Given the description of an element on the screen output the (x, y) to click on. 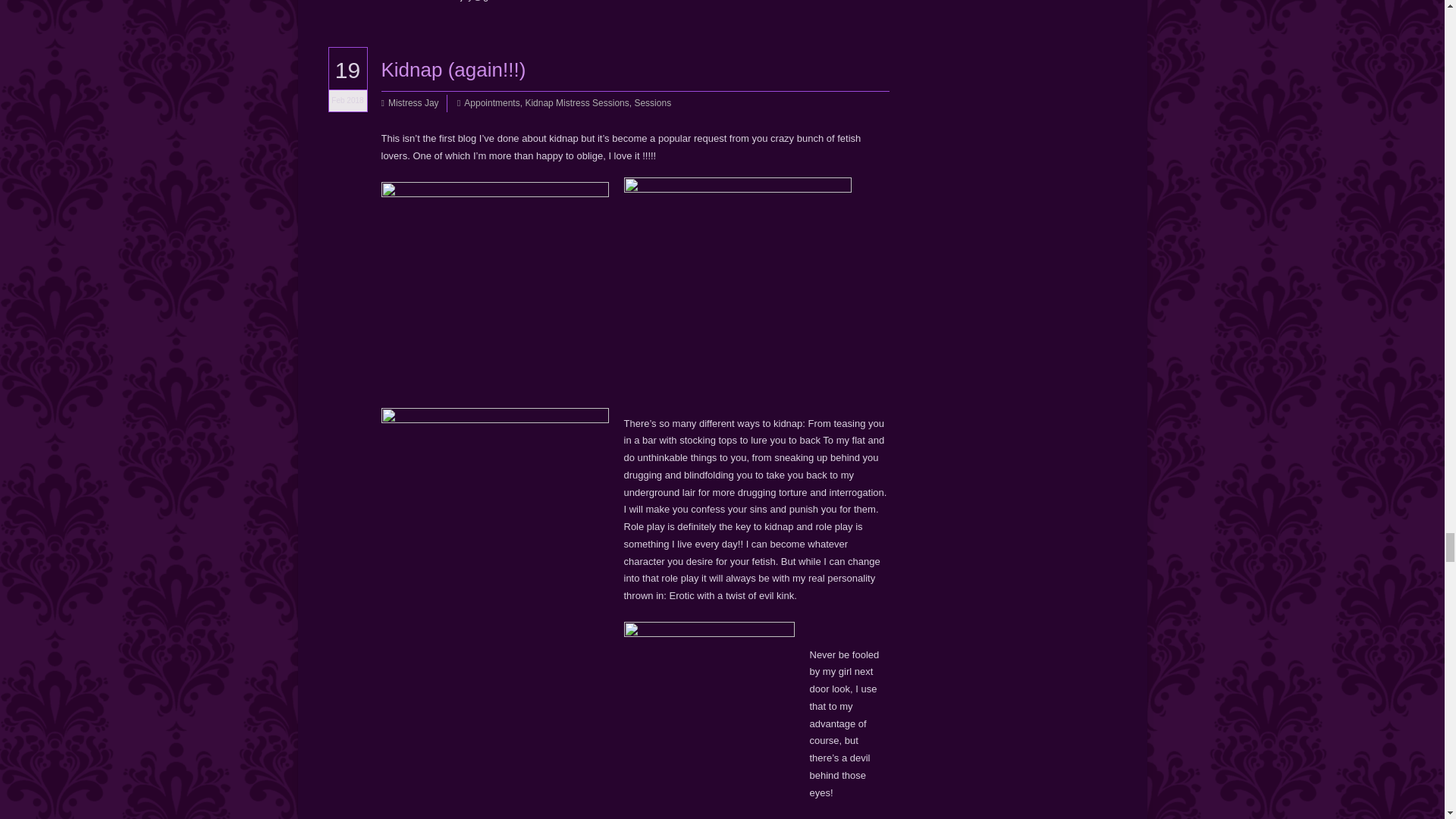
Posts by Mistress Jay (413, 103)
